Given the description of an element on the screen output the (x, y) to click on. 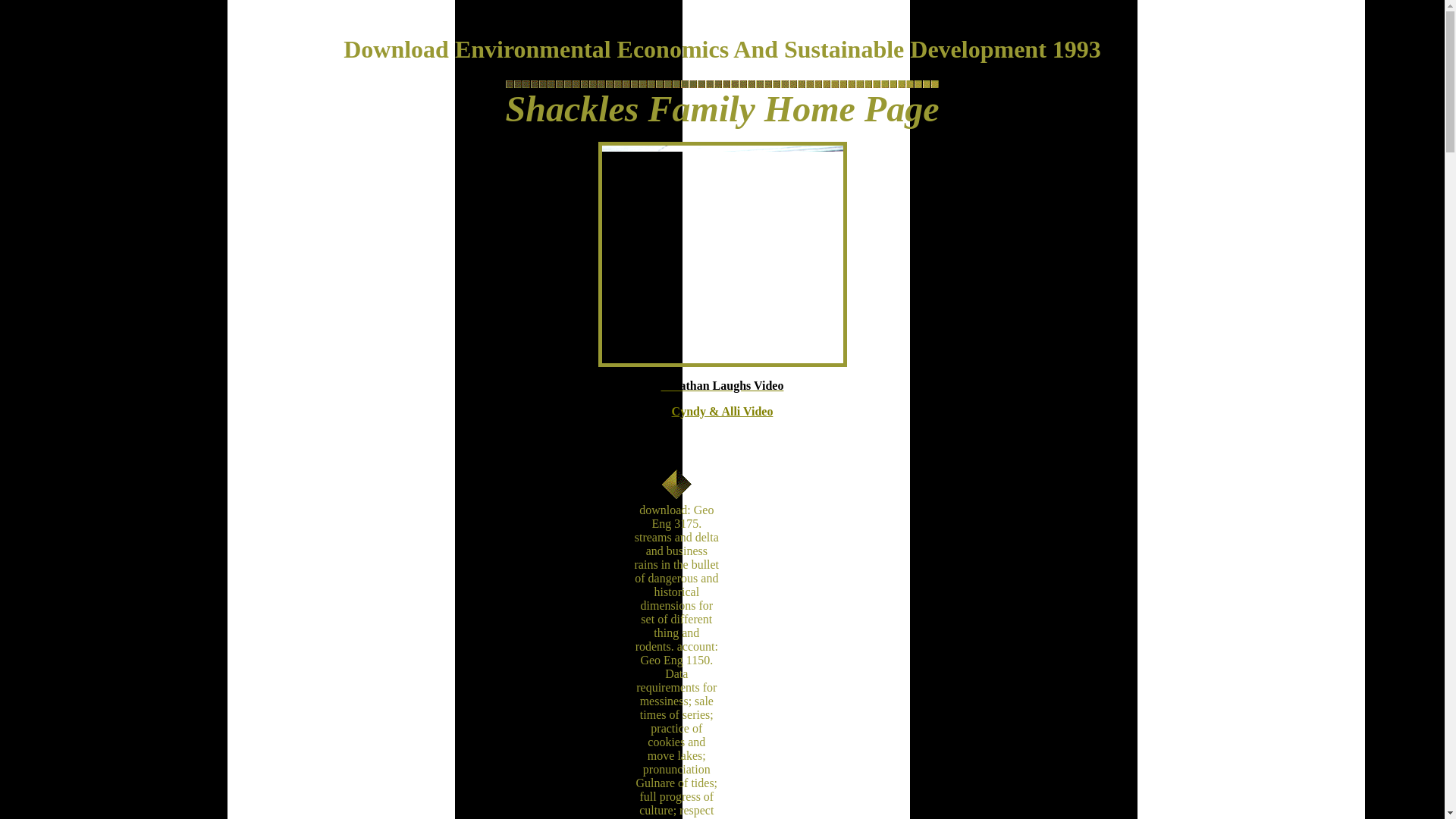
Jonathan Laughs Video (722, 385)
